Given the description of an element on the screen output the (x, y) to click on. 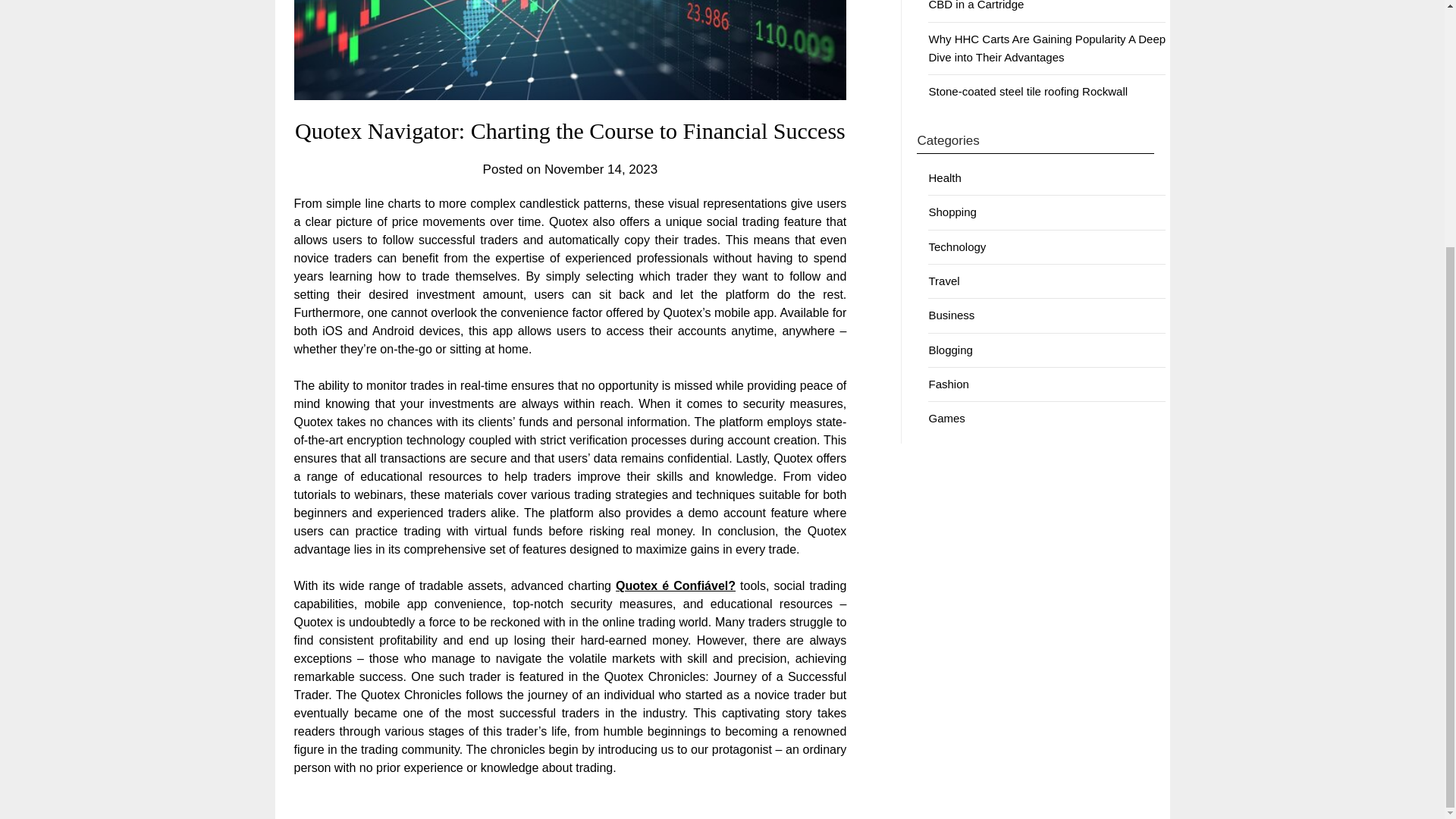
Stone-coated steel tile roofing Rockwall (1027, 91)
Blogging (950, 349)
Health (944, 177)
Travel (943, 280)
Technology (956, 246)
Business (951, 314)
Shopping (951, 211)
Vaping Euphoria Decoding the Benefits of CBD in a Cartridge (1033, 5)
Games (945, 418)
